Given the description of an element on the screen output the (x, y) to click on. 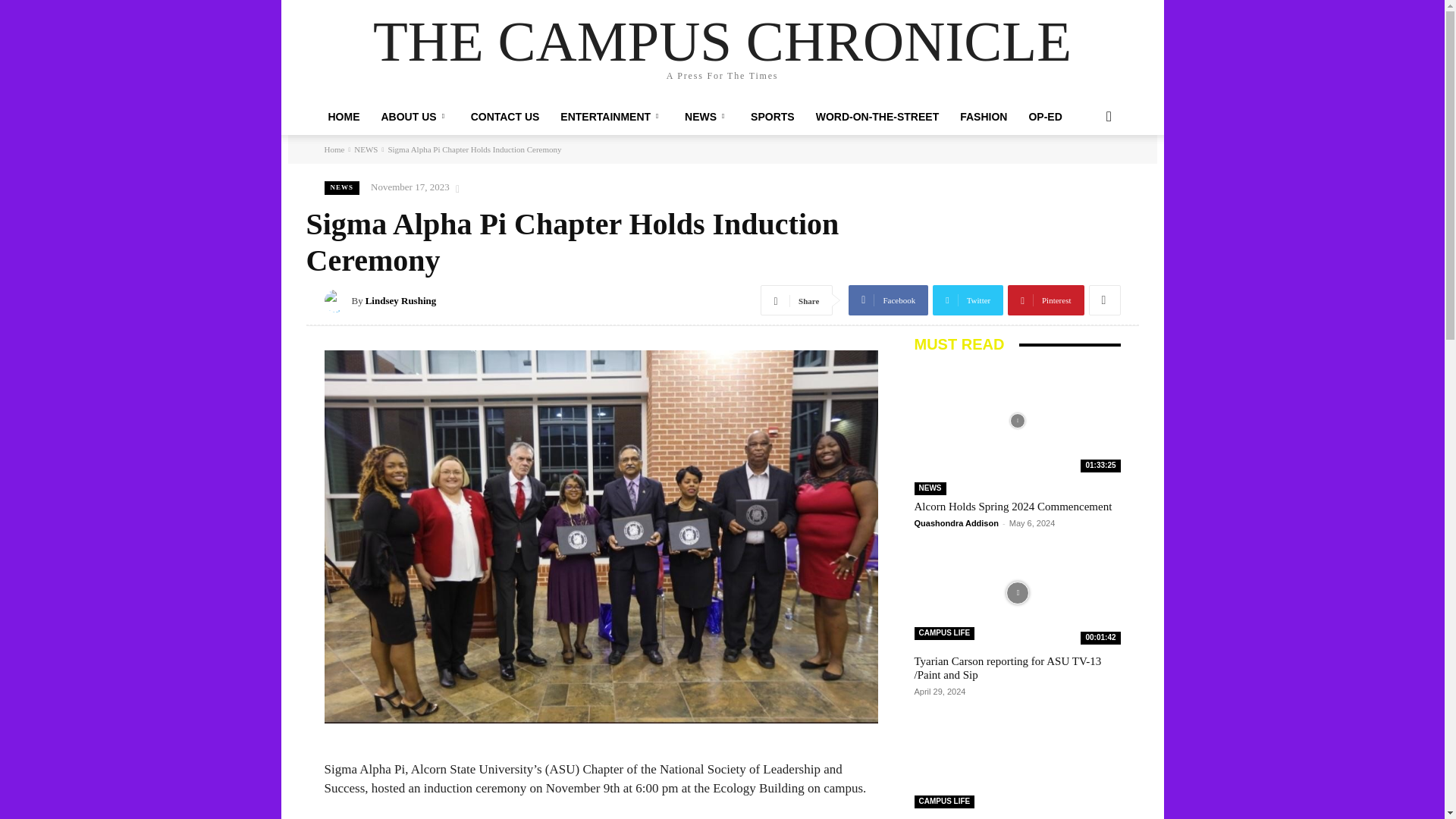
ENTERTAINMENT (612, 116)
Twitter (968, 300)
Facebook (888, 300)
THE CAMPUS CHRONICLE (721, 41)
HOME (343, 116)
More (1105, 300)
Lindsey Rushing (338, 300)
View all posts in NEWS (365, 148)
CONTACT US (505, 116)
